Given the description of an element on the screen output the (x, y) to click on. 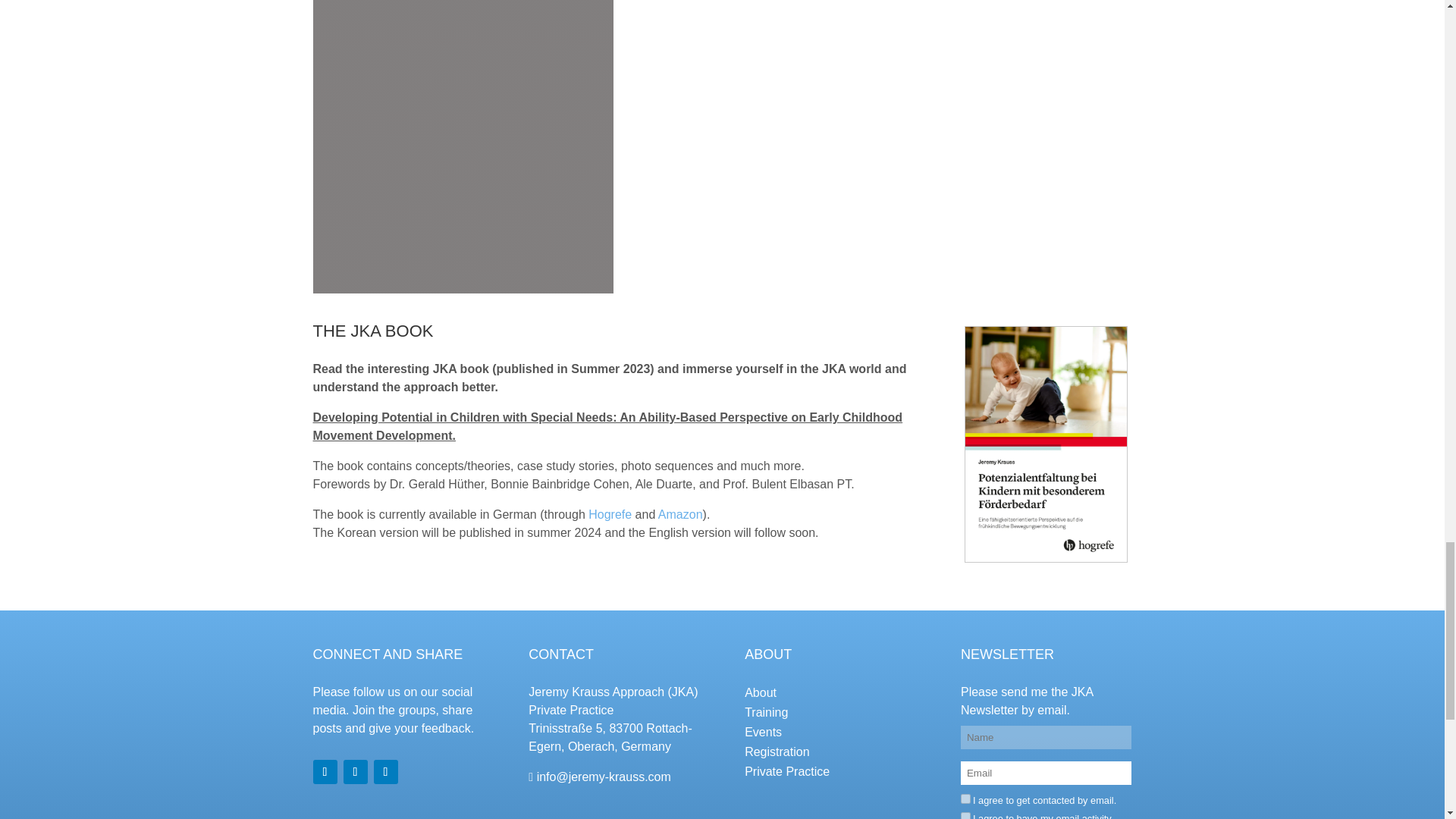
About (760, 692)
Follow on Facebook (354, 771)
Private practice (786, 771)
on (965, 815)
on (965, 798)
Jeremy Krauss Approach Center  (604, 776)
Follow on Instagram (384, 771)
Follow on Youtube (324, 771)
Training (765, 712)
Events (762, 731)
